Given the description of an element on the screen output the (x, y) to click on. 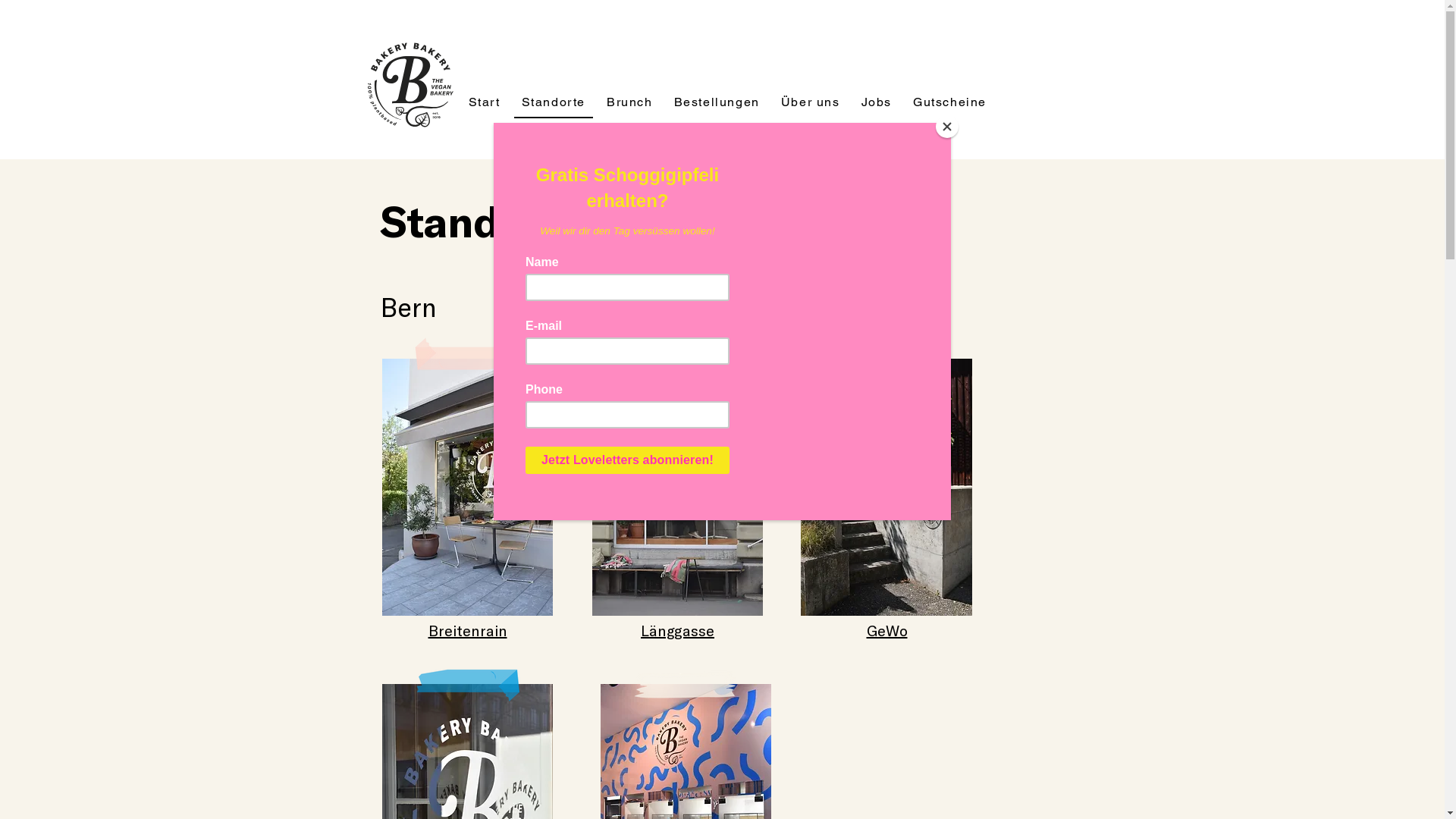
Start Element type: text (484, 102)
Jobs Element type: text (876, 102)
Standorte Element type: text (553, 102)
Bestellungen Element type: text (716, 102)
Breitenrain Element type: text (466, 630)
Gutscheine Element type: text (949, 102)
Brunch Element type: text (629, 102)
GeWo Element type: text (886, 630)
